Given the description of an element on the screen output the (x, y) to click on. 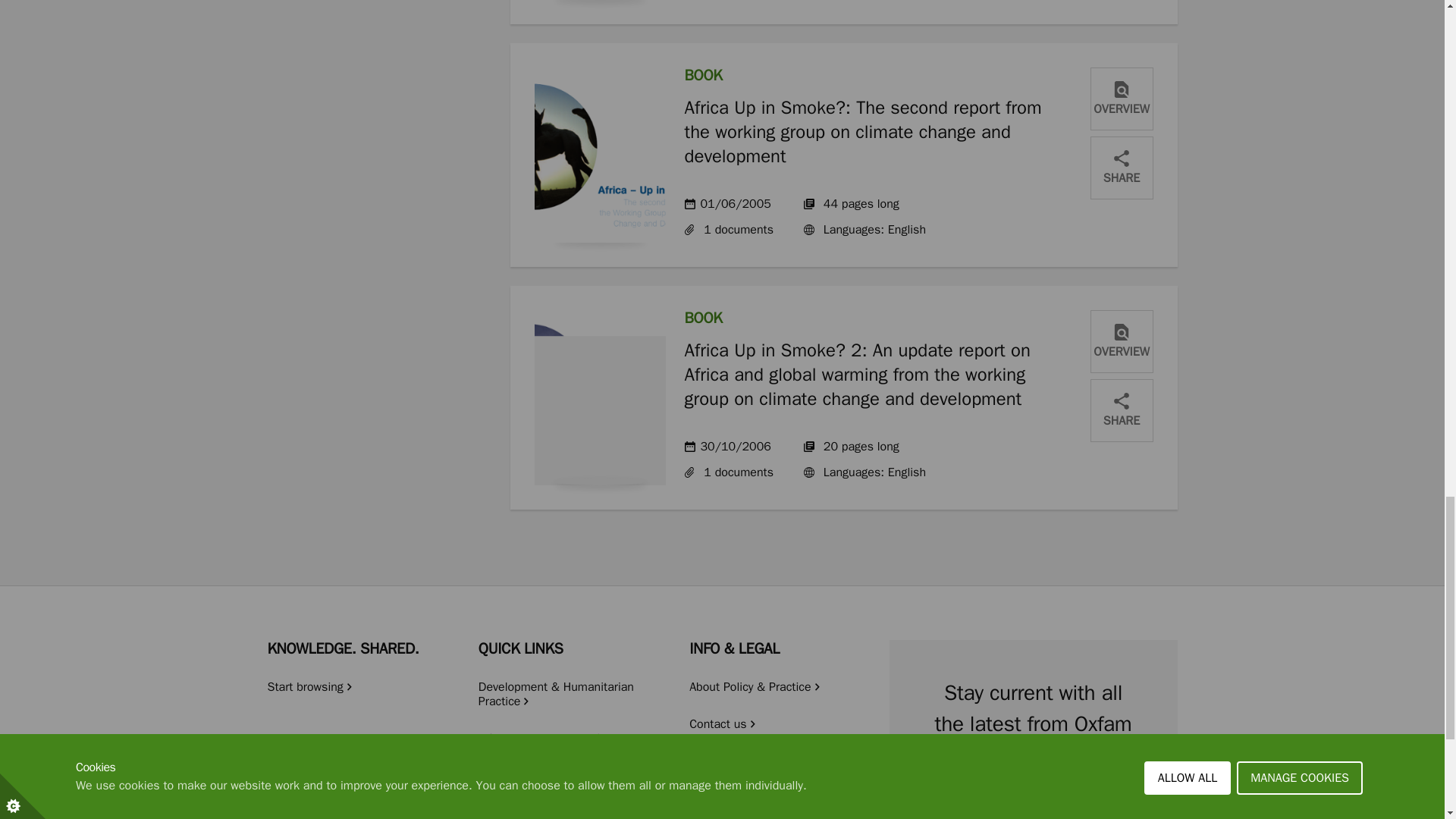
Get the newsletter (1032, 804)
